Given the description of an element on the screen output the (x, y) to click on. 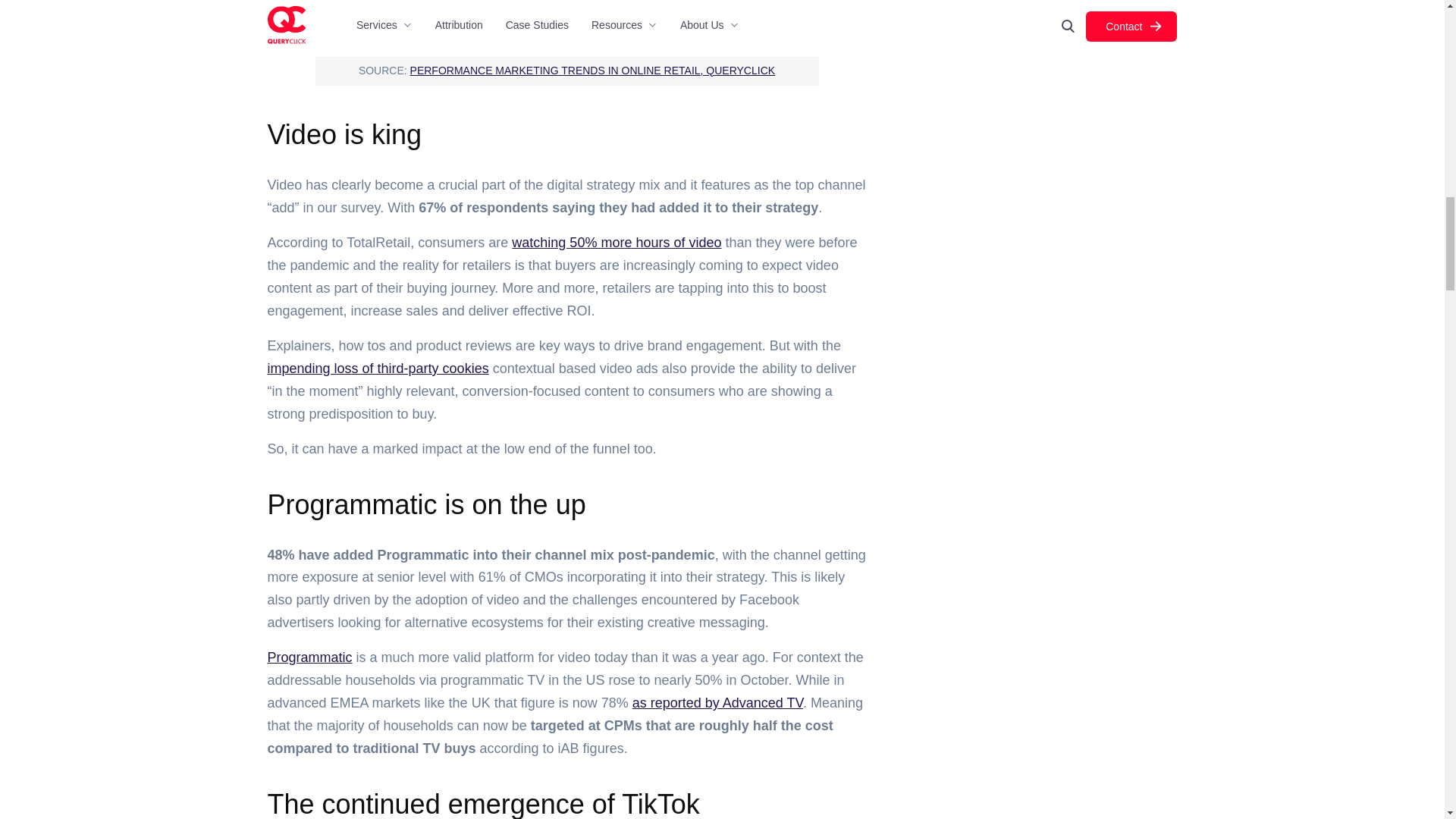
PERFORMANCE MARKETING TRENDS IN ONLINE RETAIL, QUERYCLICK (593, 70)
impending loss of third-party cookies (376, 368)
Programmatic (309, 657)
as reported by Advanced TV (717, 702)
